Given the description of an element on the screen output the (x, y) to click on. 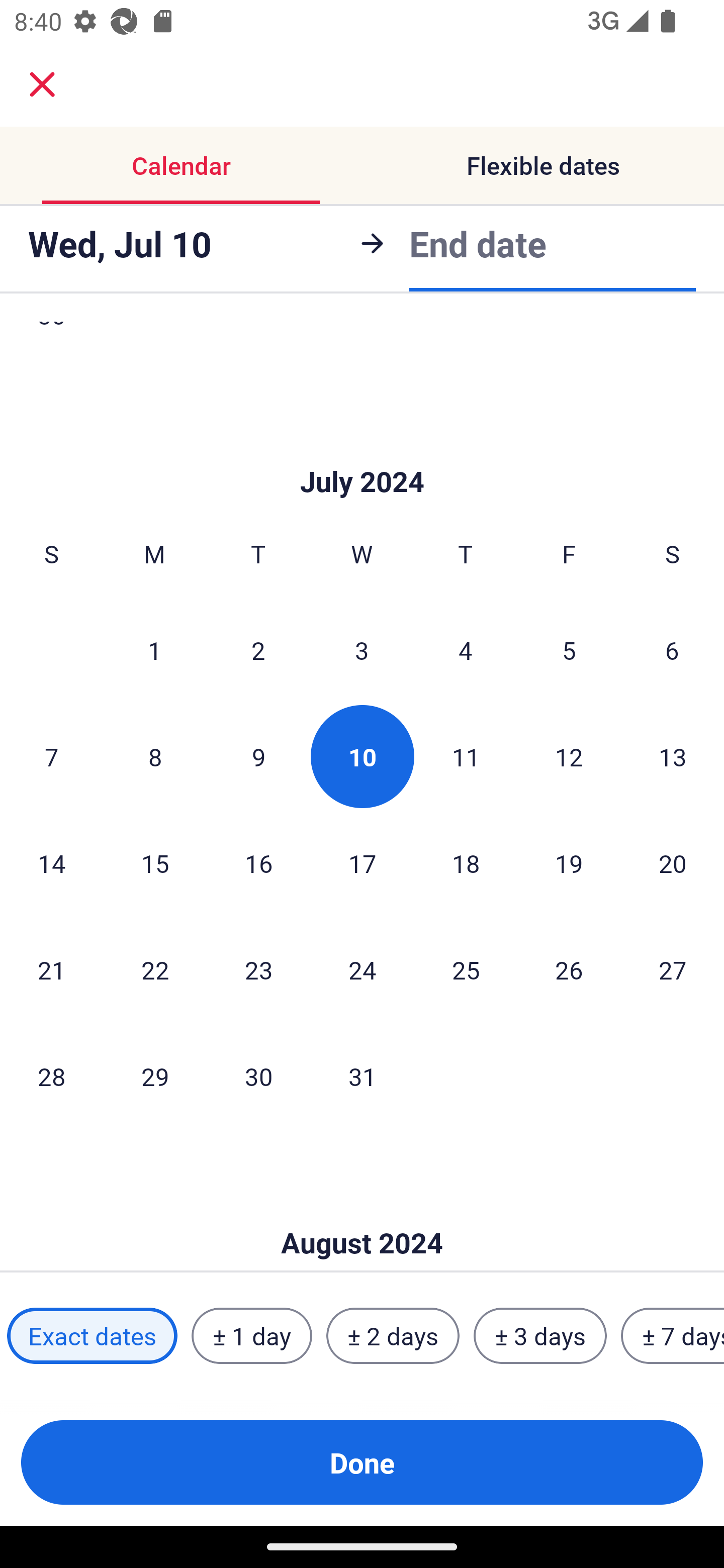
close. (42, 84)
Flexible dates (542, 164)
End date (477, 243)
Skip to Done (362, 451)
1 Monday, July 1, 2024 (154, 649)
2 Tuesday, July 2, 2024 (257, 649)
3 Wednesday, July 3, 2024 (361, 649)
4 Thursday, July 4, 2024 (465, 649)
5 Friday, July 5, 2024 (568, 649)
6 Saturday, July 6, 2024 (672, 649)
7 Sunday, July 7, 2024 (51, 756)
8 Monday, July 8, 2024 (155, 756)
9 Tuesday, July 9, 2024 (258, 756)
11 Thursday, July 11, 2024 (465, 756)
12 Friday, July 12, 2024 (569, 756)
13 Saturday, July 13, 2024 (672, 756)
14 Sunday, July 14, 2024 (51, 863)
15 Monday, July 15, 2024 (155, 863)
16 Tuesday, July 16, 2024 (258, 863)
17 Wednesday, July 17, 2024 (362, 863)
18 Thursday, July 18, 2024 (465, 863)
19 Friday, July 19, 2024 (569, 863)
20 Saturday, July 20, 2024 (672, 863)
21 Sunday, July 21, 2024 (51, 969)
22 Monday, July 22, 2024 (155, 969)
23 Tuesday, July 23, 2024 (258, 969)
24 Wednesday, July 24, 2024 (362, 969)
25 Thursday, July 25, 2024 (465, 969)
26 Friday, July 26, 2024 (569, 969)
27 Saturday, July 27, 2024 (672, 969)
28 Sunday, July 28, 2024 (51, 1076)
29 Monday, July 29, 2024 (155, 1076)
30 Tuesday, July 30, 2024 (258, 1076)
31 Wednesday, July 31, 2024 (362, 1076)
Skip to Done (362, 1213)
Exact dates (92, 1335)
± 1 day (251, 1335)
± 2 days (392, 1335)
± 3 days (539, 1335)
± 7 days (672, 1335)
Done (361, 1462)
